Given the description of an element on the screen output the (x, y) to click on. 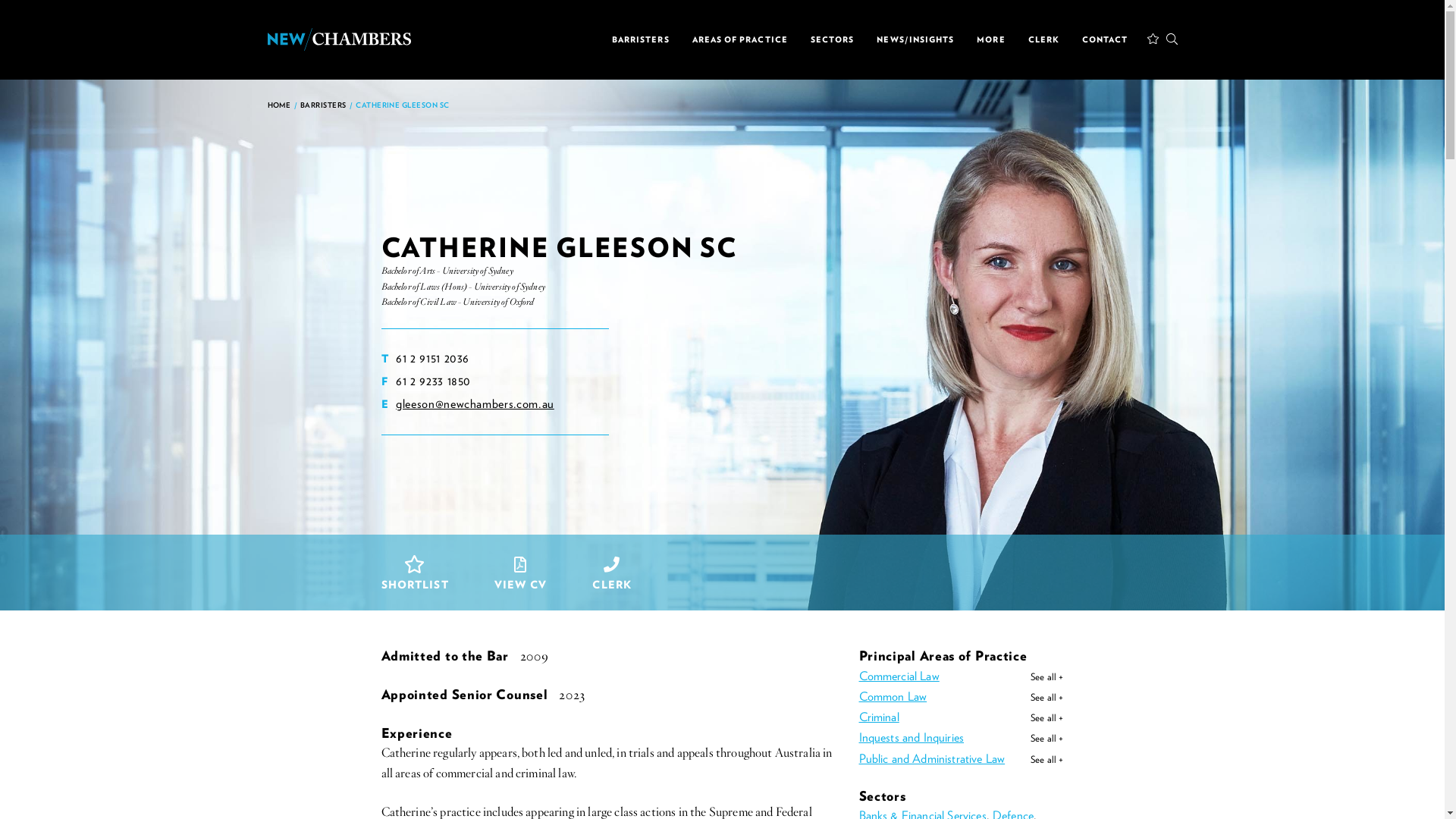
gleeson@newchambers.com.au Element type: text (474, 403)
CLERK Element type: text (611, 575)
CONTACT Element type: text (1105, 40)
VIEW CV Element type: text (520, 575)
Commercial Law Element type: text (898, 675)
BARRISTERS Element type: text (323, 104)
HOME Element type: text (278, 104)
NEWS/INSIGHTS Element type: text (914, 40)
BARRISTERS Element type: text (640, 40)
61 2 9151 2036 Element type: text (432, 358)
Criminal Element type: text (878, 716)
Common Law Element type: text (892, 696)
SECTORS Element type: text (832, 40)
CLERK Element type: text (1043, 40)
New Chambers Element type: text (338, 38)
MORE Element type: text (990, 40)
Public and Administrative Law Element type: text (931, 758)
AREAS OF PRACTICE Element type: text (739, 40)
Inquests and Inquiries Element type: text (910, 737)
